Given the description of an element on the screen output the (x, y) to click on. 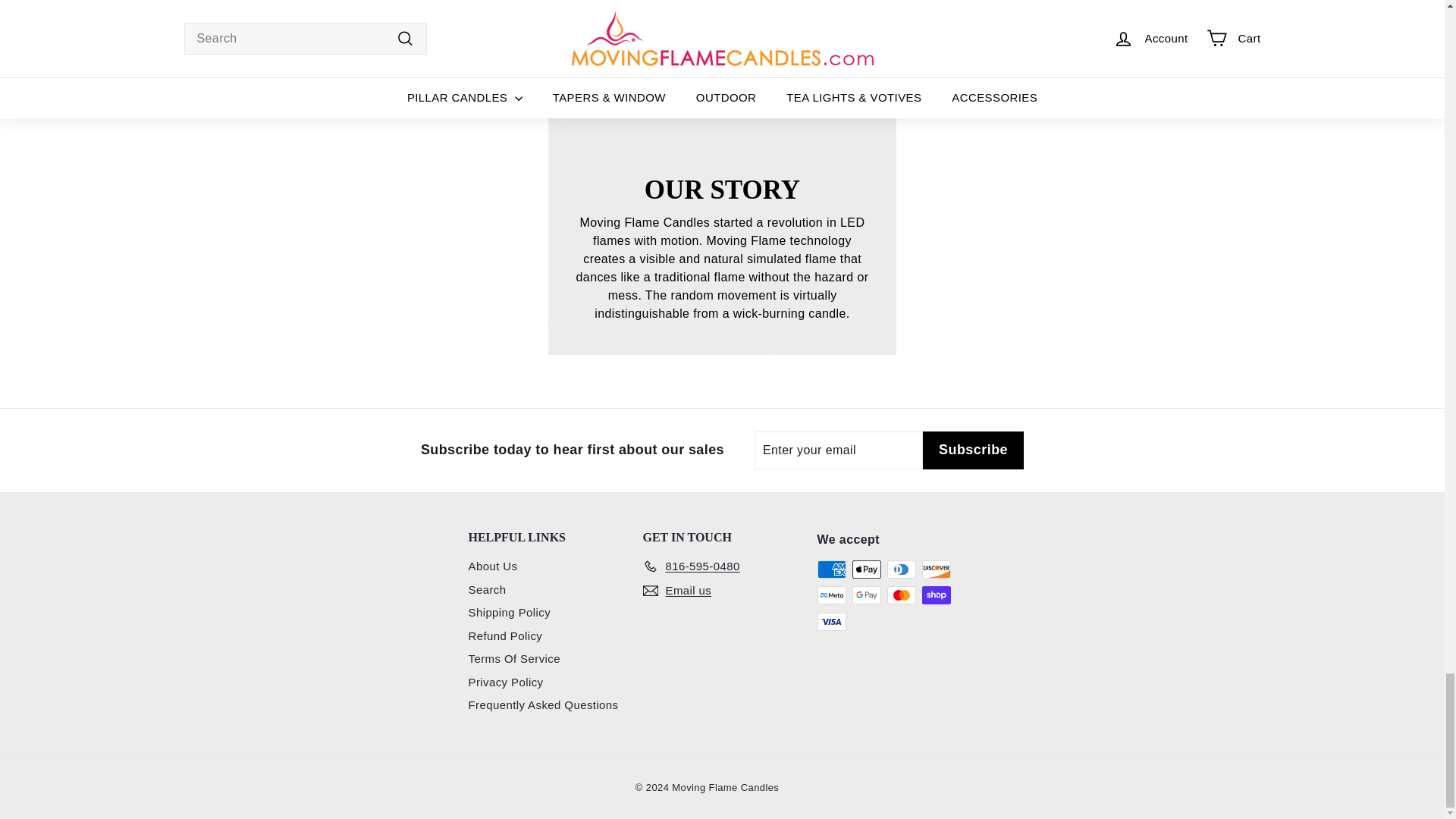
Apple Pay (865, 569)
Diners Club (900, 569)
American Express (830, 569)
Google Pay (865, 595)
Meta Pay (830, 595)
Discover (935, 569)
